Given the description of an element on the screen output the (x, y) to click on. 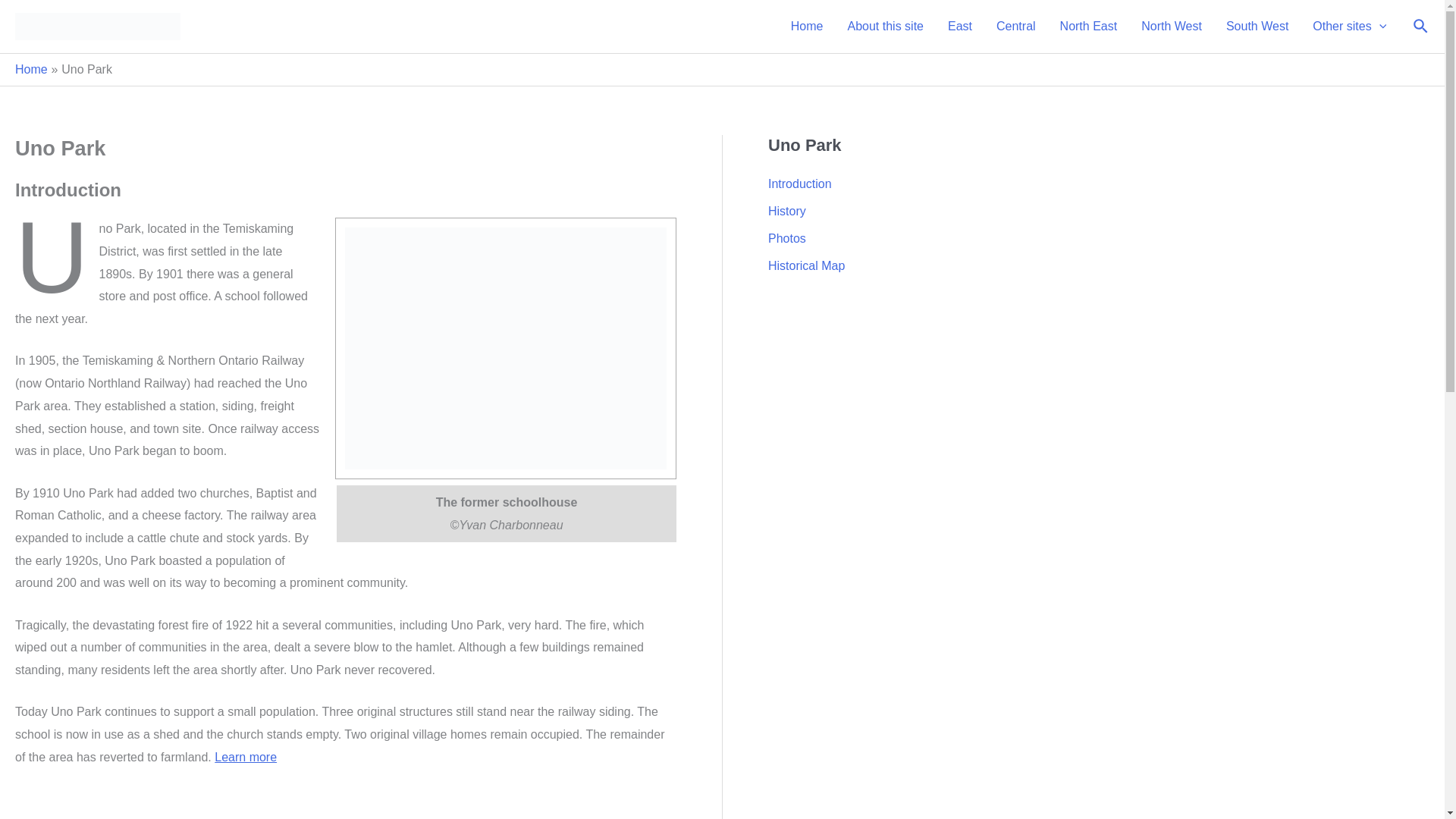
North West (1171, 26)
Central (1016, 26)
Other sites (1348, 26)
Home (806, 26)
South West (1257, 26)
Home (31, 69)
History (787, 210)
Photos (787, 237)
About this site (885, 26)
North East (1088, 26)
Introduction (799, 183)
Learn more (245, 757)
Historical Map (806, 265)
Search (1421, 26)
East (960, 26)
